Given the description of an element on the screen output the (x, y) to click on. 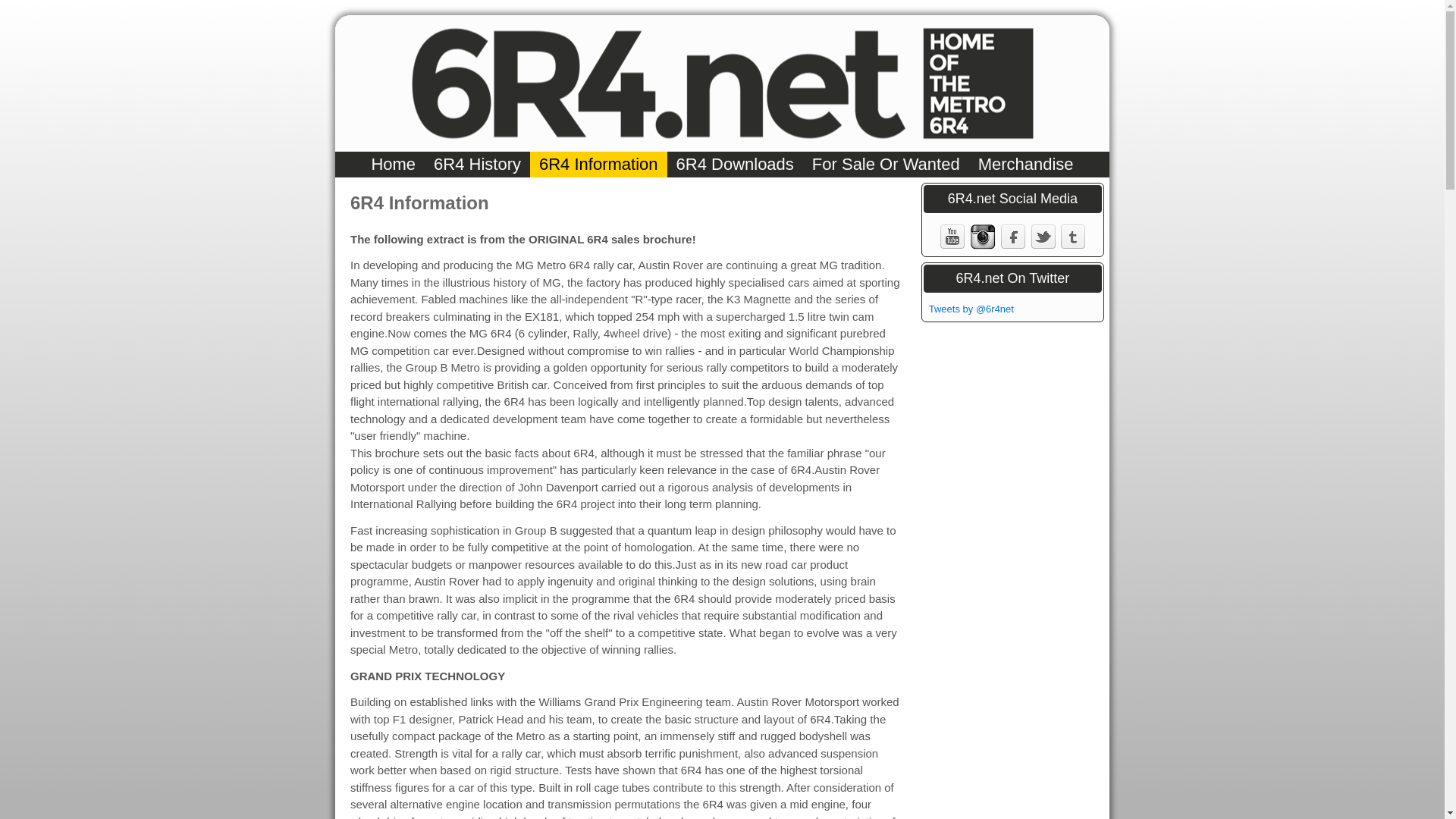
6R4 Downloads (734, 164)
6R4 Information (597, 164)
6R4 History (477, 164)
For Sale Or Wanted (886, 164)
Merchandise (1026, 164)
Home (393, 164)
